Given the description of an element on the screen output the (x, y) to click on. 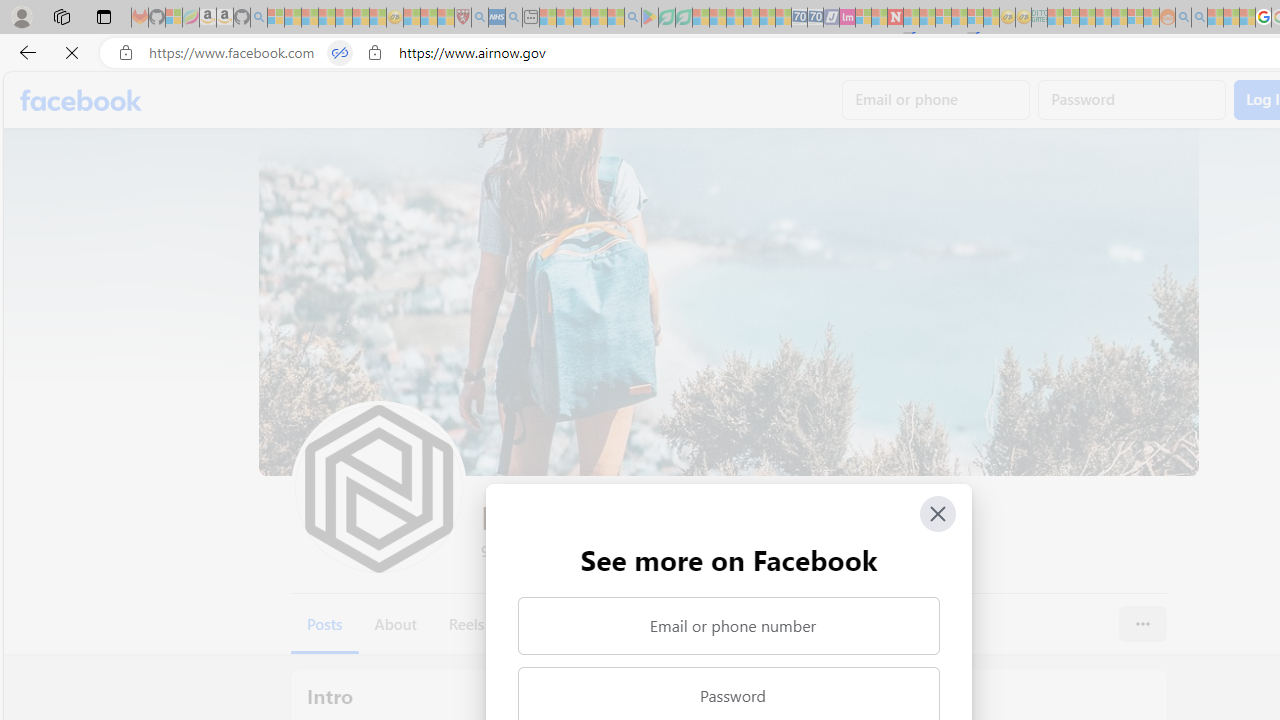
Facebook (81, 99)
Facebook (81, 99)
Utah sues federal government - Search - Sleeping (1199, 17)
Terms of Use Agreement - Sleeping (666, 17)
MSNBC - MSN - Sleeping (1055, 17)
Email or phone number (728, 625)
Trusted Community Engagement and Contributions | Guidelines (911, 17)
Latest Politics News & Archive | Newsweek.com - Sleeping (895, 17)
